Given the description of an element on the screen output the (x, y) to click on. 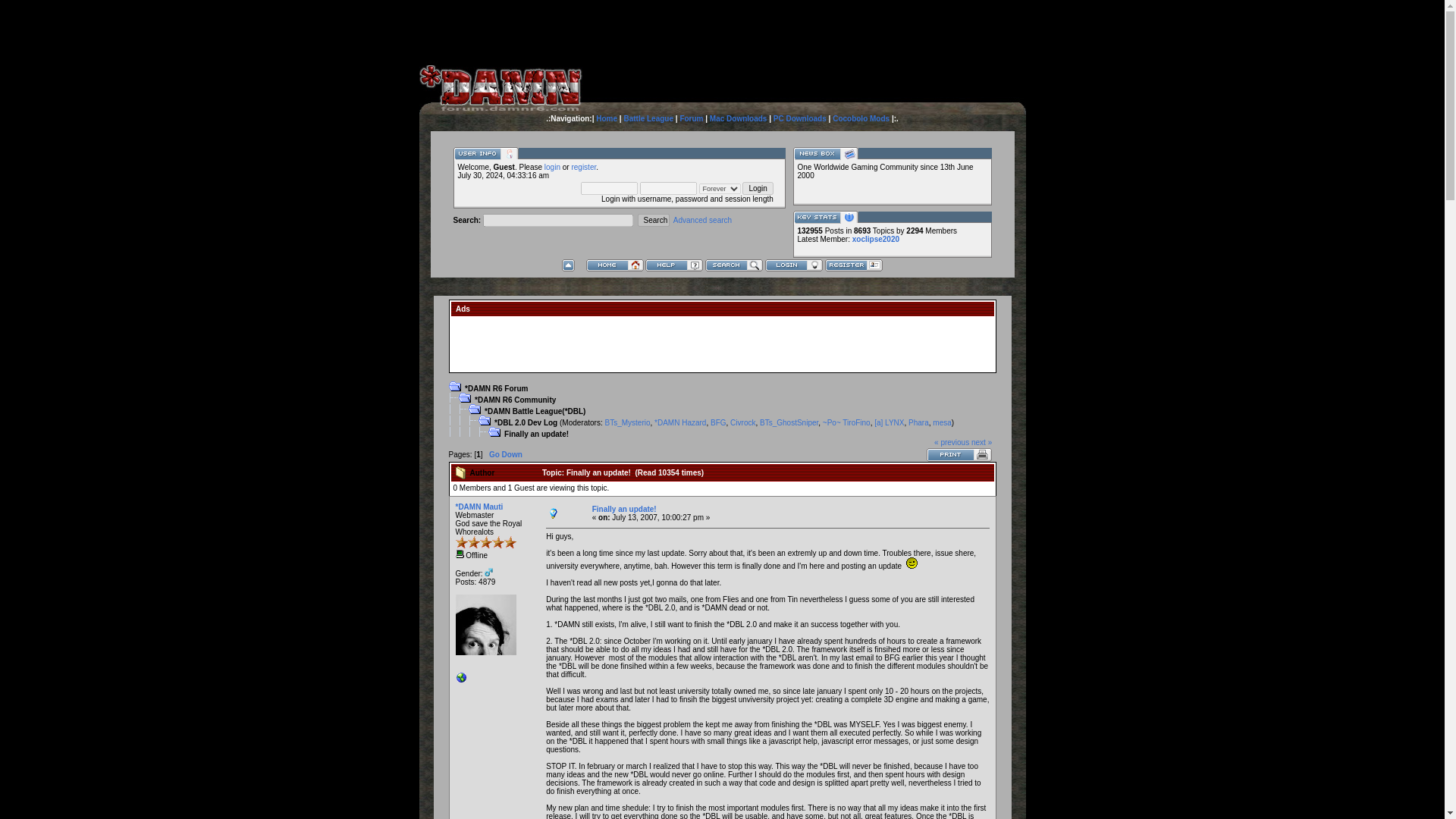
Advanced search (702, 220)
Board Moderator (742, 422)
Go Down (505, 454)
Board Moderator (941, 422)
Login (757, 187)
Civrock (742, 422)
Search (653, 219)
Forum (691, 118)
Login (757, 187)
register (582, 166)
Search (653, 219)
BFG (718, 422)
Battle League (647, 118)
Mac Downloads (738, 118)
Board Moderator (718, 422)
